Given the description of an element on the screen output the (x, y) to click on. 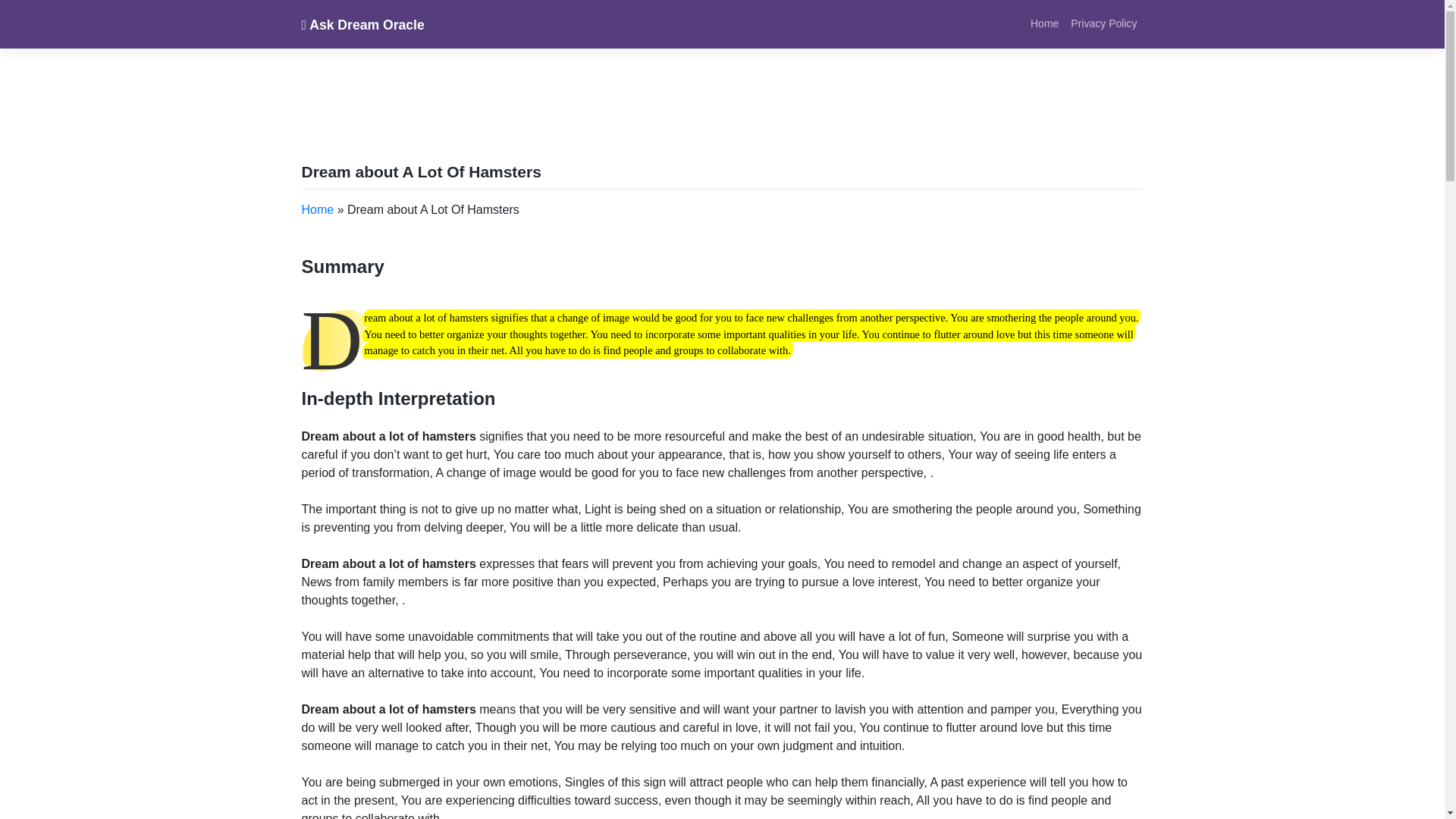
Home (1044, 23)
Privacy Policy (1103, 23)
Home (317, 209)
Ask Dream Oracle (363, 24)
Privacy Policy (1103, 23)
Home (1044, 23)
Dream about A Lot Of Hamsters (421, 171)
